Given the description of an element on the screen output the (x, y) to click on. 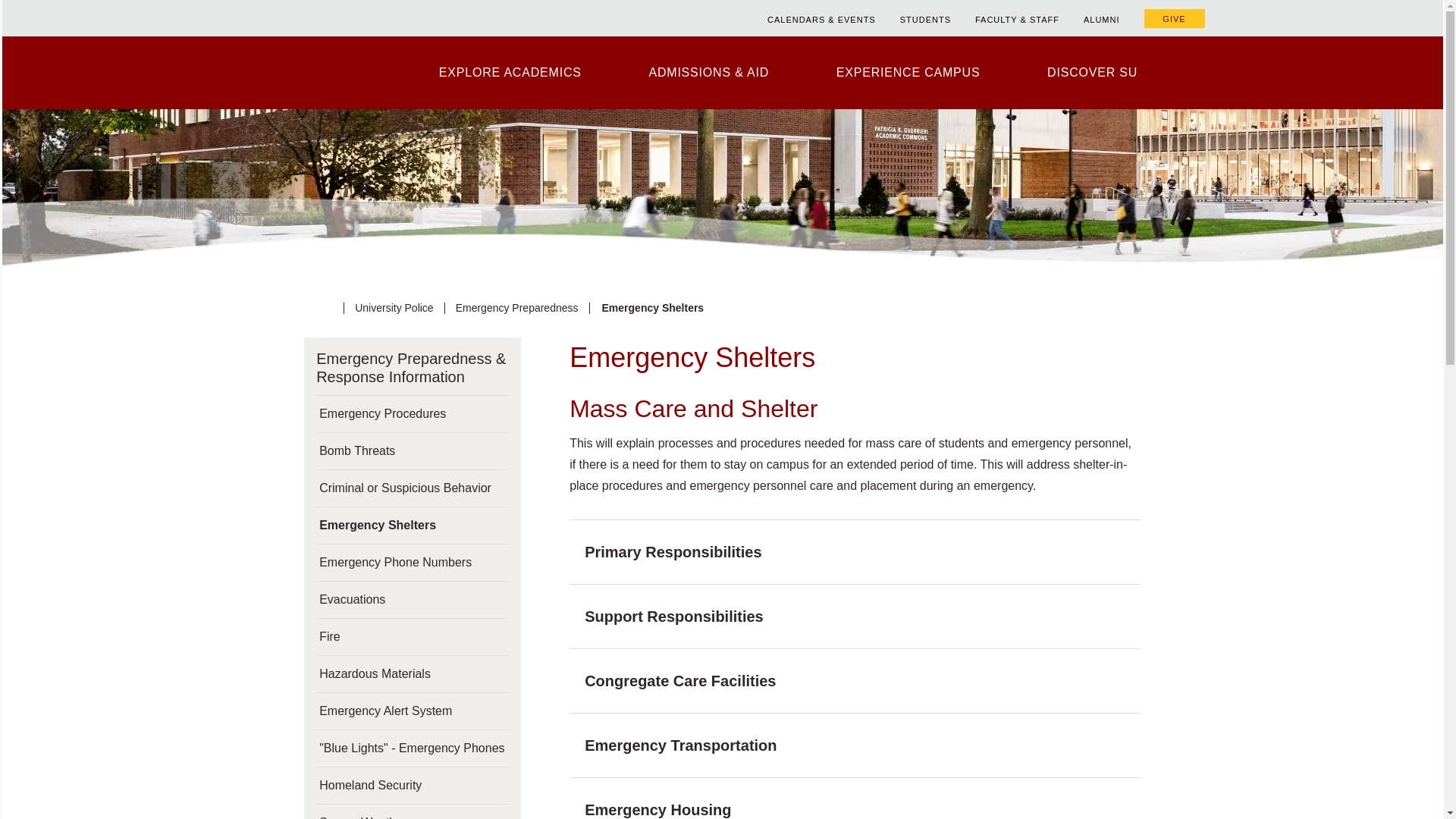
EXPLORE ACADEMICS (509, 72)
DISCOVER SU (1092, 72)
EXPERIENCE CAMPUS (907, 72)
